Given the description of an element on the screen output the (x, y) to click on. 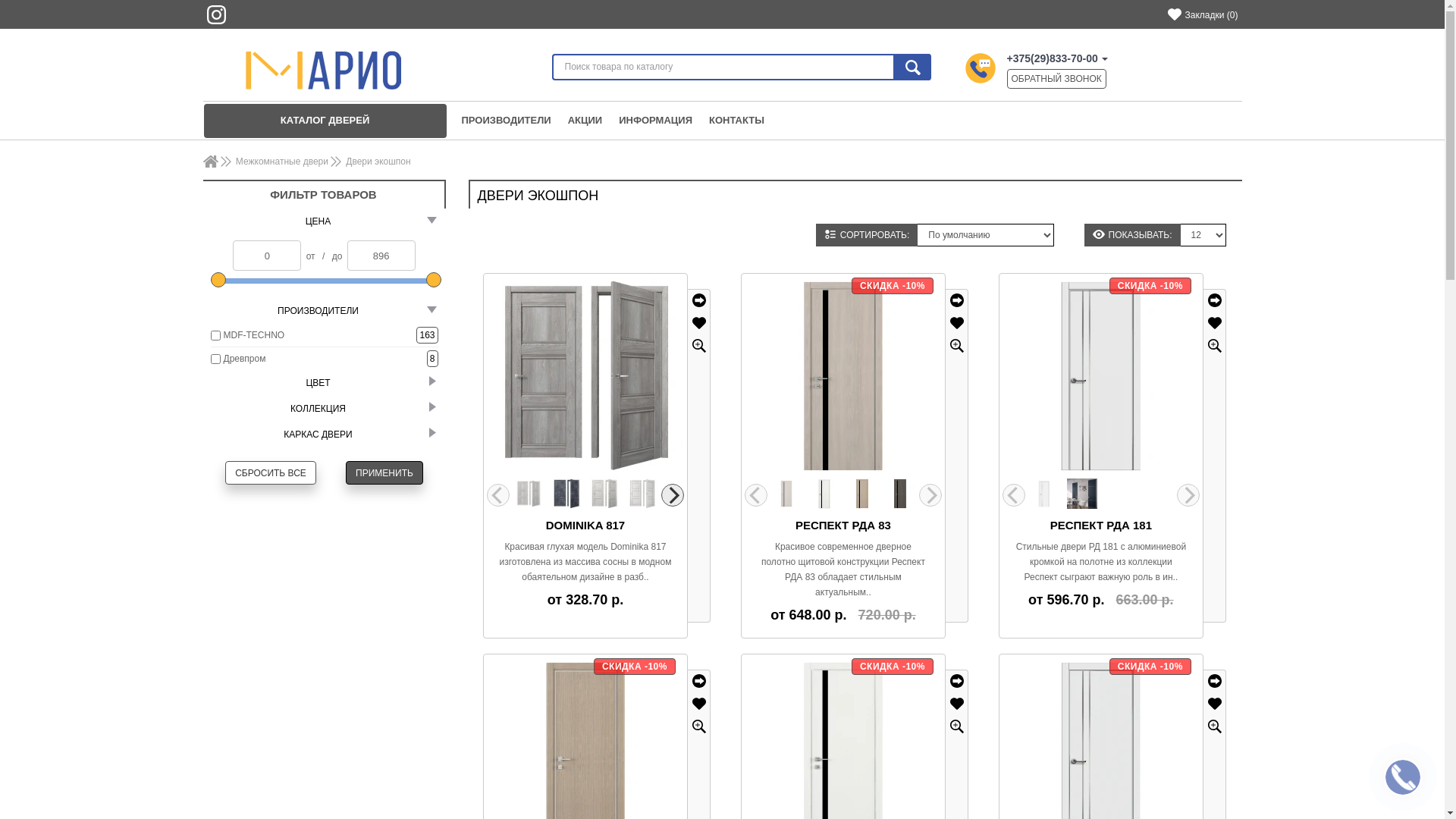
Dominika 817 Element type: hover (585, 375)
Dominika 817 Element type: hover (642, 493)
Dominika 817 Element type: hover (529, 495)
Dominika 817 Element type: hover (566, 493)
Dominika 817 Element type: hover (604, 493)
+375(29)833-70-00 Element type: text (1057, 58)
DOMINIKA 817 Element type: text (585, 524)
